Given the description of an element on the screen output the (x, y) to click on. 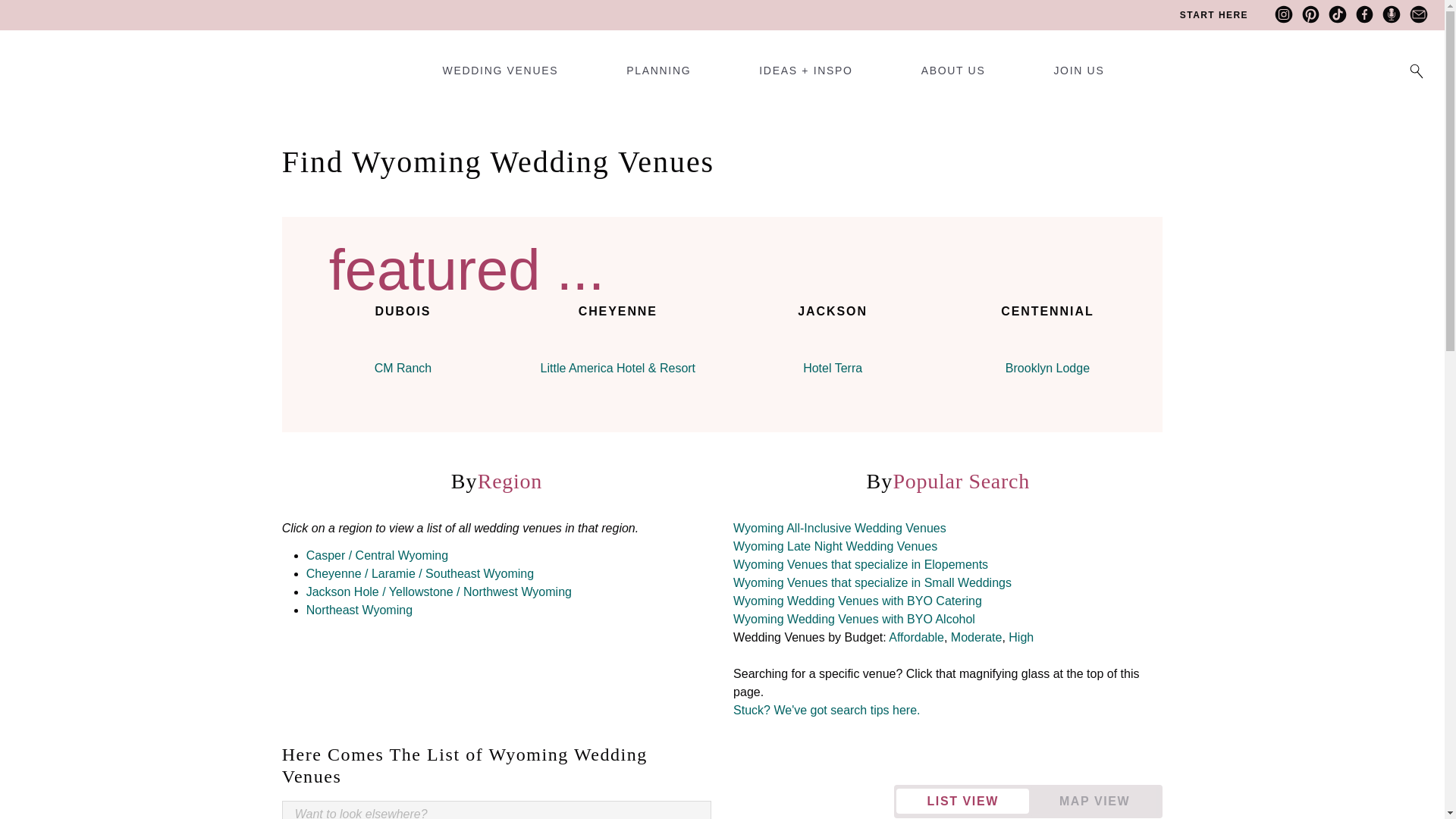
JOIN US (1078, 75)
CM Ranch (403, 367)
ABOUT US (953, 75)
Click here to view lists of luxury Wyoming Venues. (1021, 636)
Hotel Terra (832, 342)
START HERE (1213, 15)
Click here to view lists of moderate Wyoming Venues. (976, 636)
PLANNING (658, 75)
Click here to view lists of Wyoming Late Night Venues. (835, 545)
WEDDING VENUES (500, 75)
Here Comes the Guide (63, 56)
Hotel Terra (832, 367)
